Given the description of an element on the screen output the (x, y) to click on. 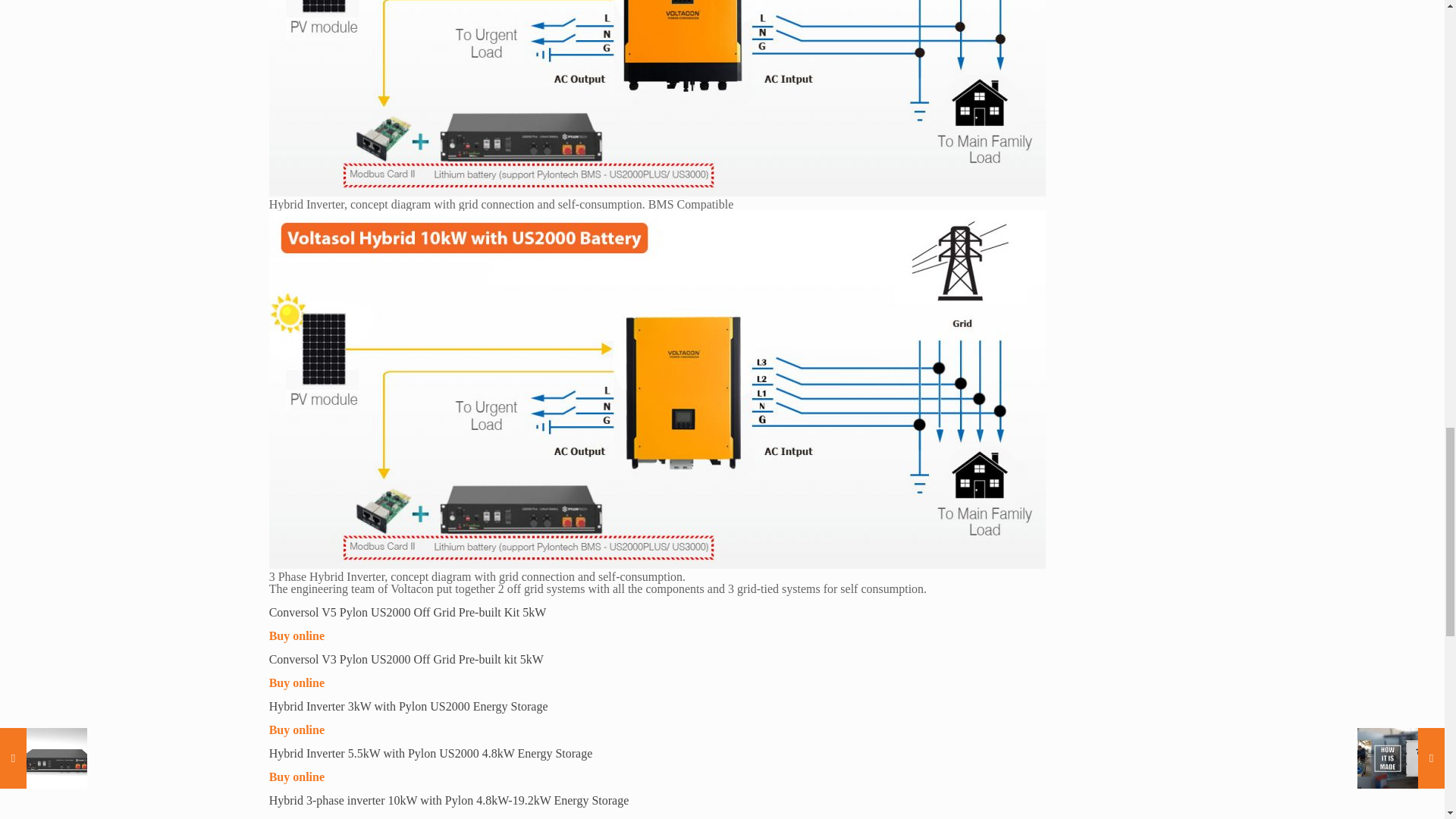
Buy online (296, 776)
Buy online (296, 729)
Buy online (296, 635)
Buy online (296, 818)
Buy online (296, 682)
